Given the description of an element on the screen output the (x, y) to click on. 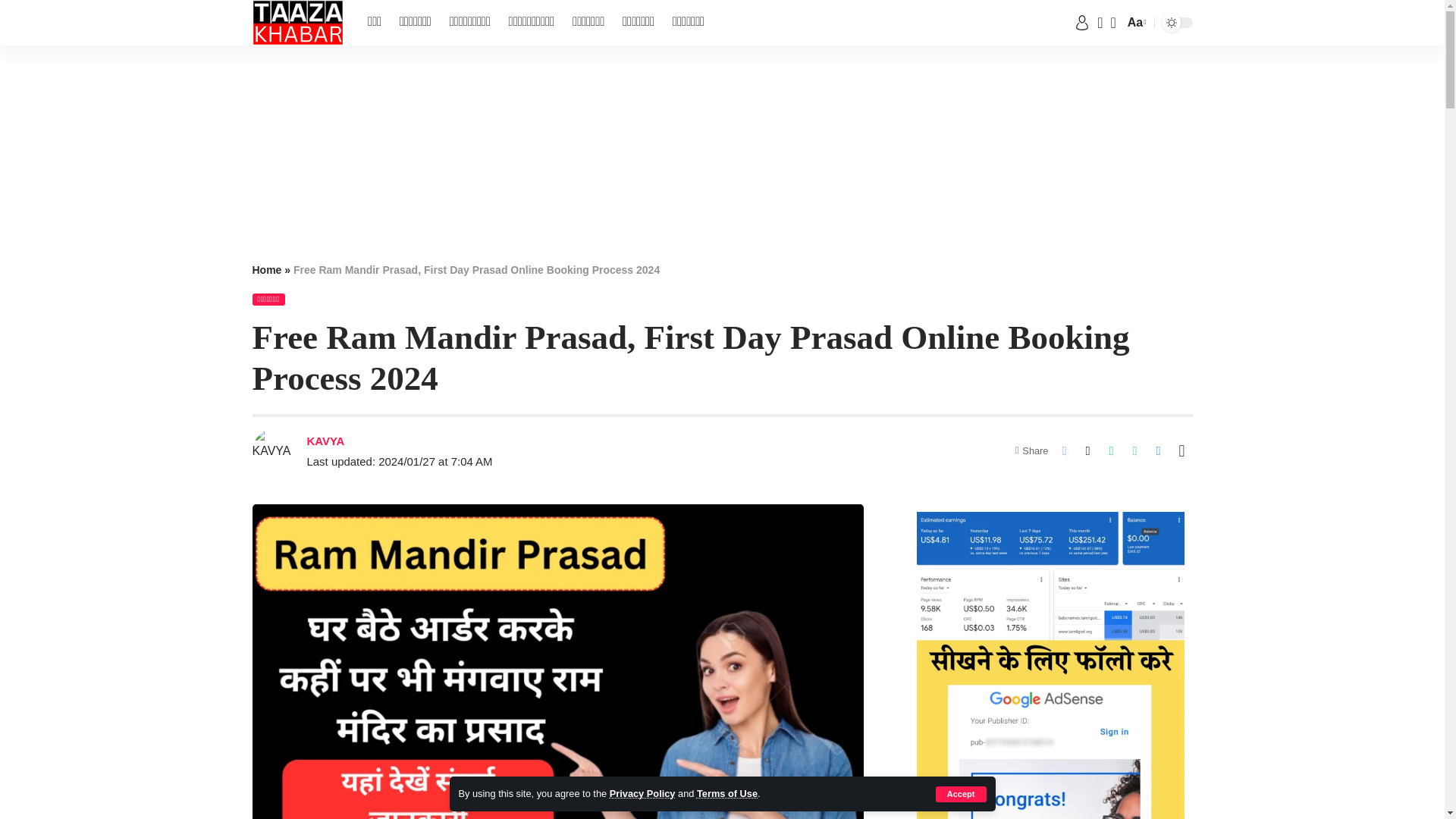
Privacy Policy (642, 793)
Terms of Use (727, 793)
Aa (1135, 22)
Accept (961, 794)
Taaza Khabar (297, 22)
